Given the description of an element on the screen output the (x, y) to click on. 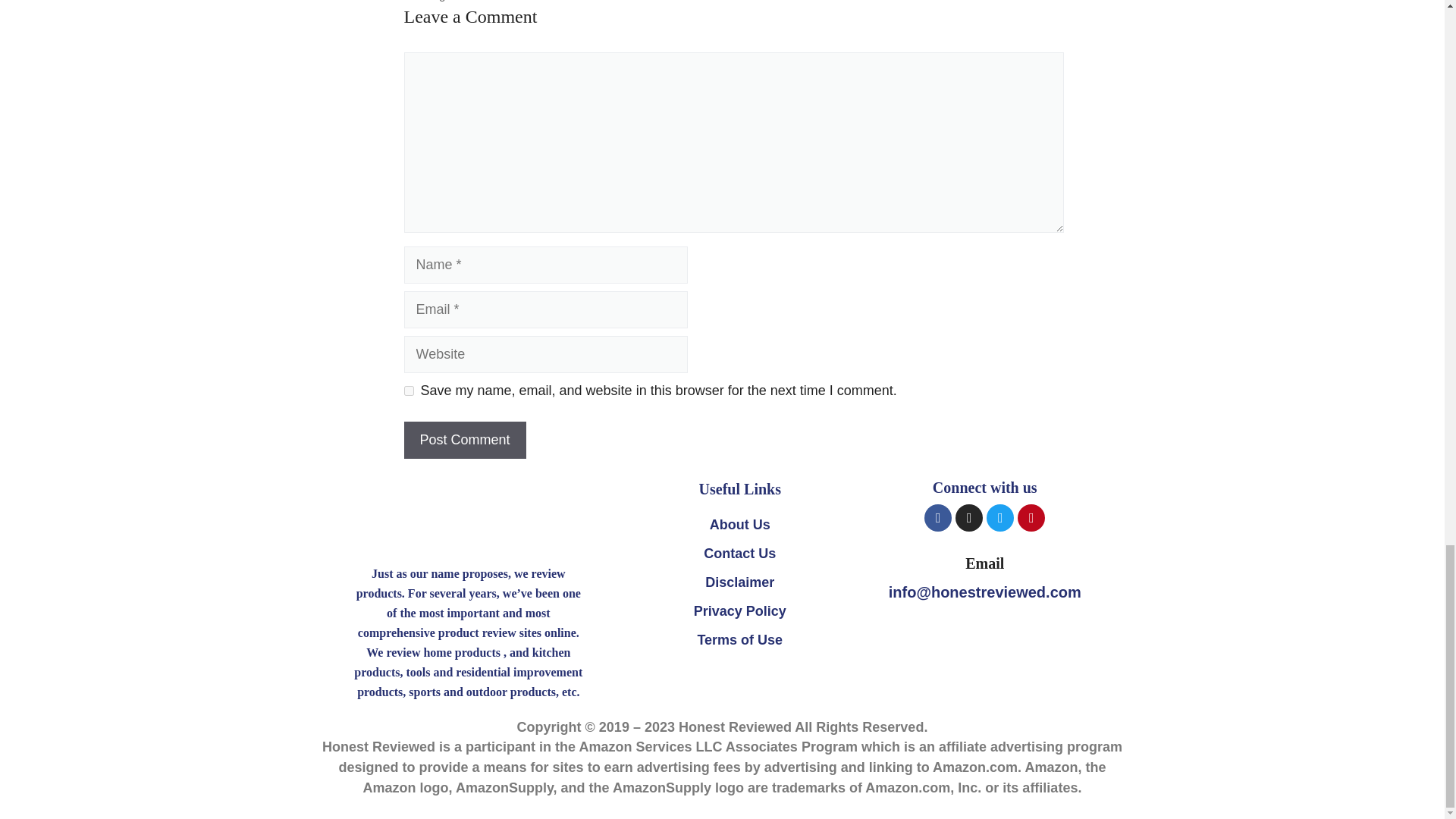
Privacy Policy (739, 611)
yes (408, 390)
Contact Us (739, 553)
Post Comment (464, 439)
Post Comment (464, 439)
Disclaimer (739, 582)
Blog (433, 0)
About Us (739, 525)
Terms of Use (739, 639)
